Given the description of an element on the screen output the (x, y) to click on. 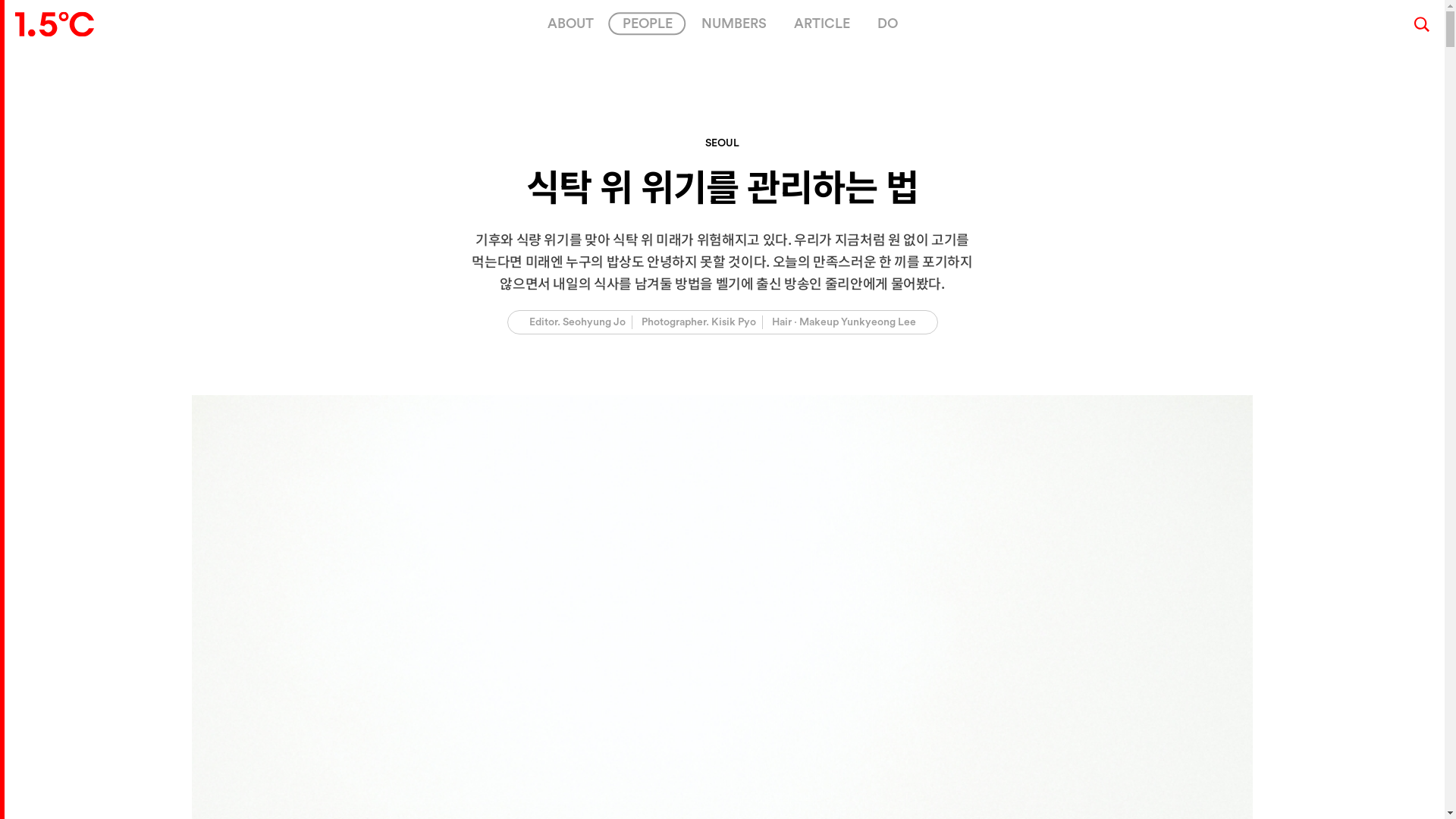
ABOUT Element type: text (570, 23)
SEOUL Element type: text (722, 143)
DO Element type: text (886, 23)
ARTICLE Element type: text (821, 23)
Go Element type: text (676, 434)
PEOPLE Element type: text (646, 23)
NUMBERS Element type: text (733, 23)
